Given the description of an element on the screen output the (x, y) to click on. 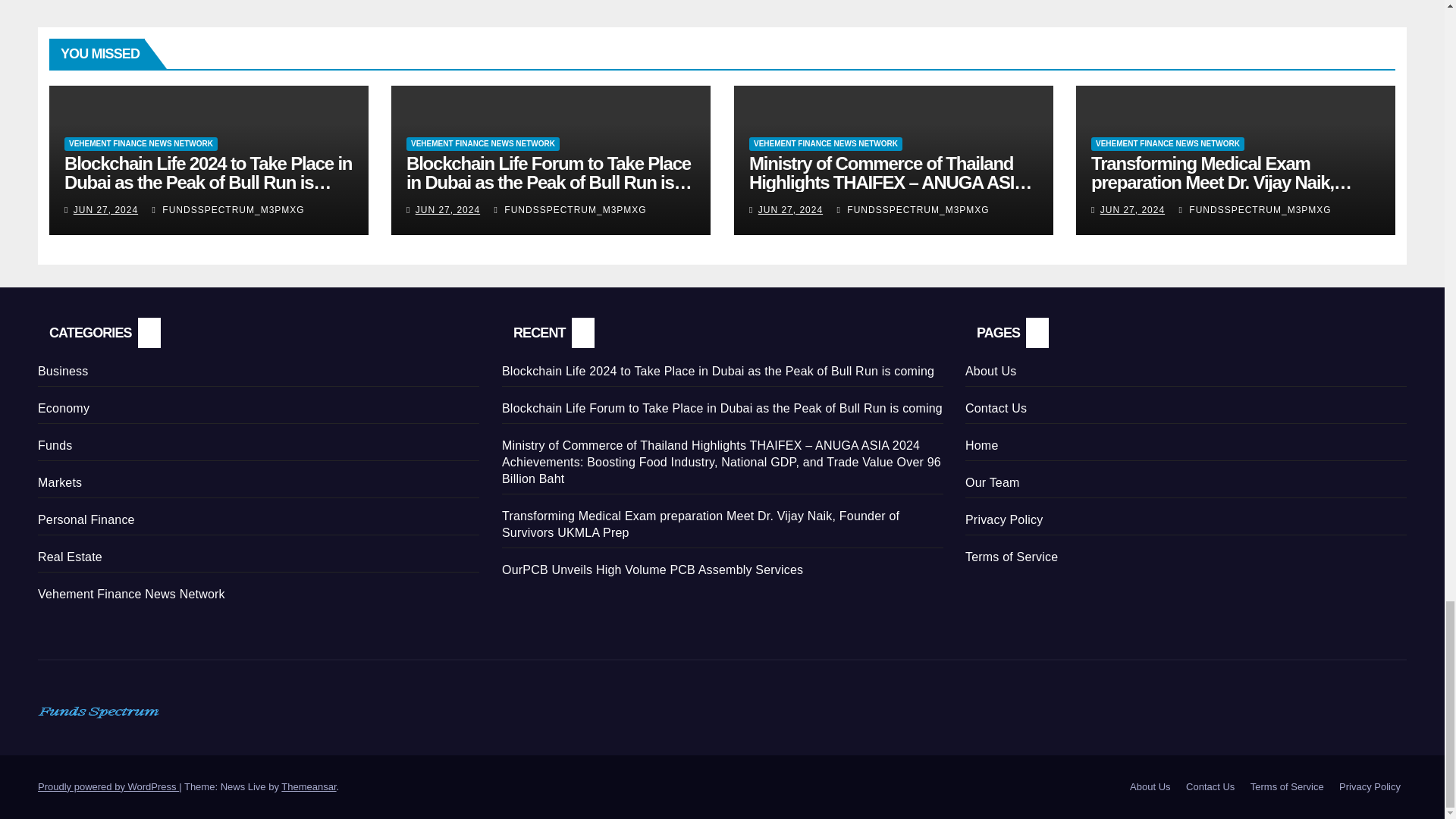
About Us (1150, 786)
